Given the description of an element on the screen output the (x, y) to click on. 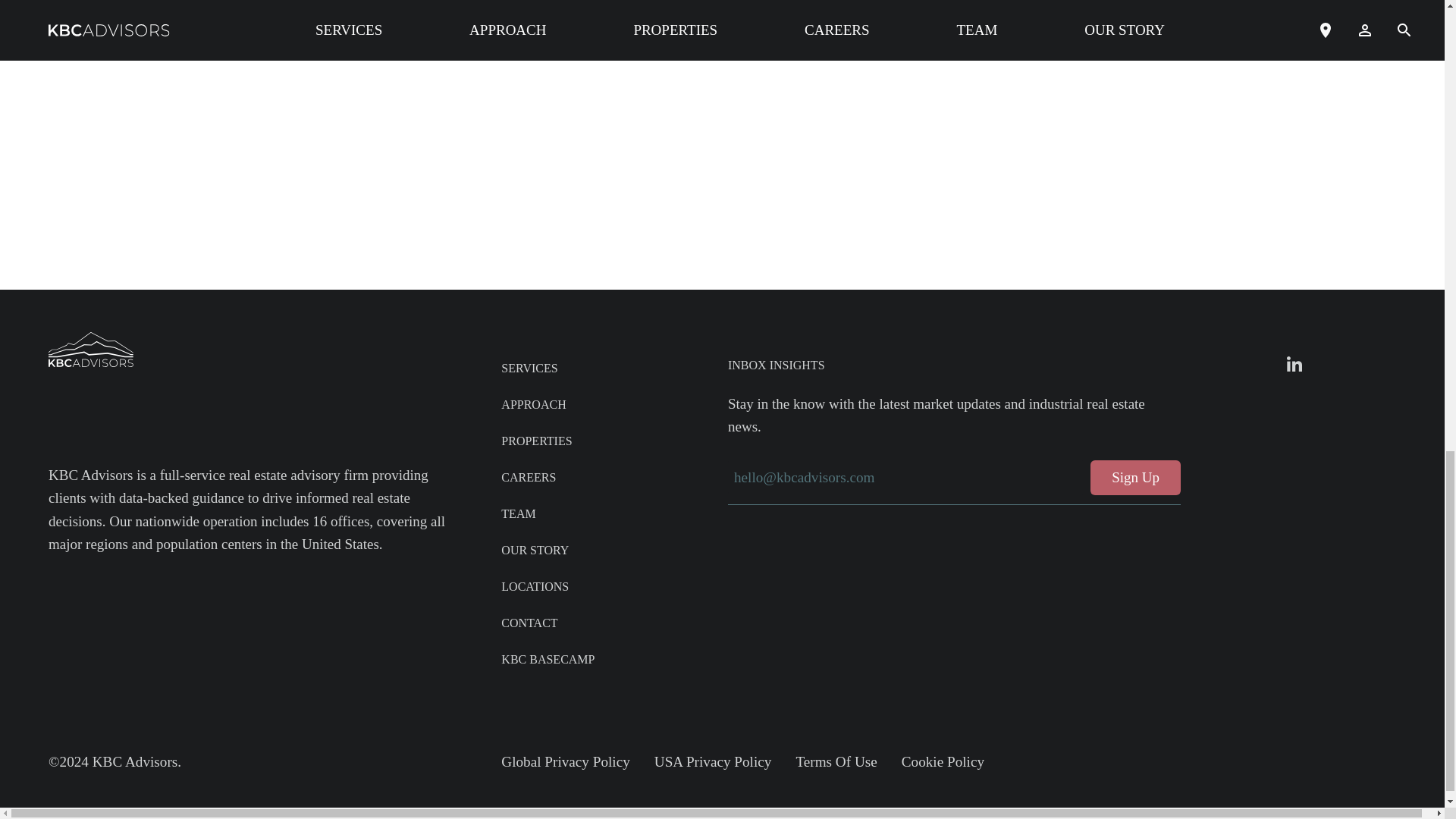
SERVICES (528, 367)
TEAM (517, 513)
OUR STORY (534, 549)
CAREERS (528, 477)
email signup (954, 478)
Sign Up (1135, 477)
PROPERTIES (536, 440)
Terms Of Use (835, 761)
APPROACH (533, 404)
USA Privacy Policy (712, 761)
